Given the description of an element on the screen output the (x, y) to click on. 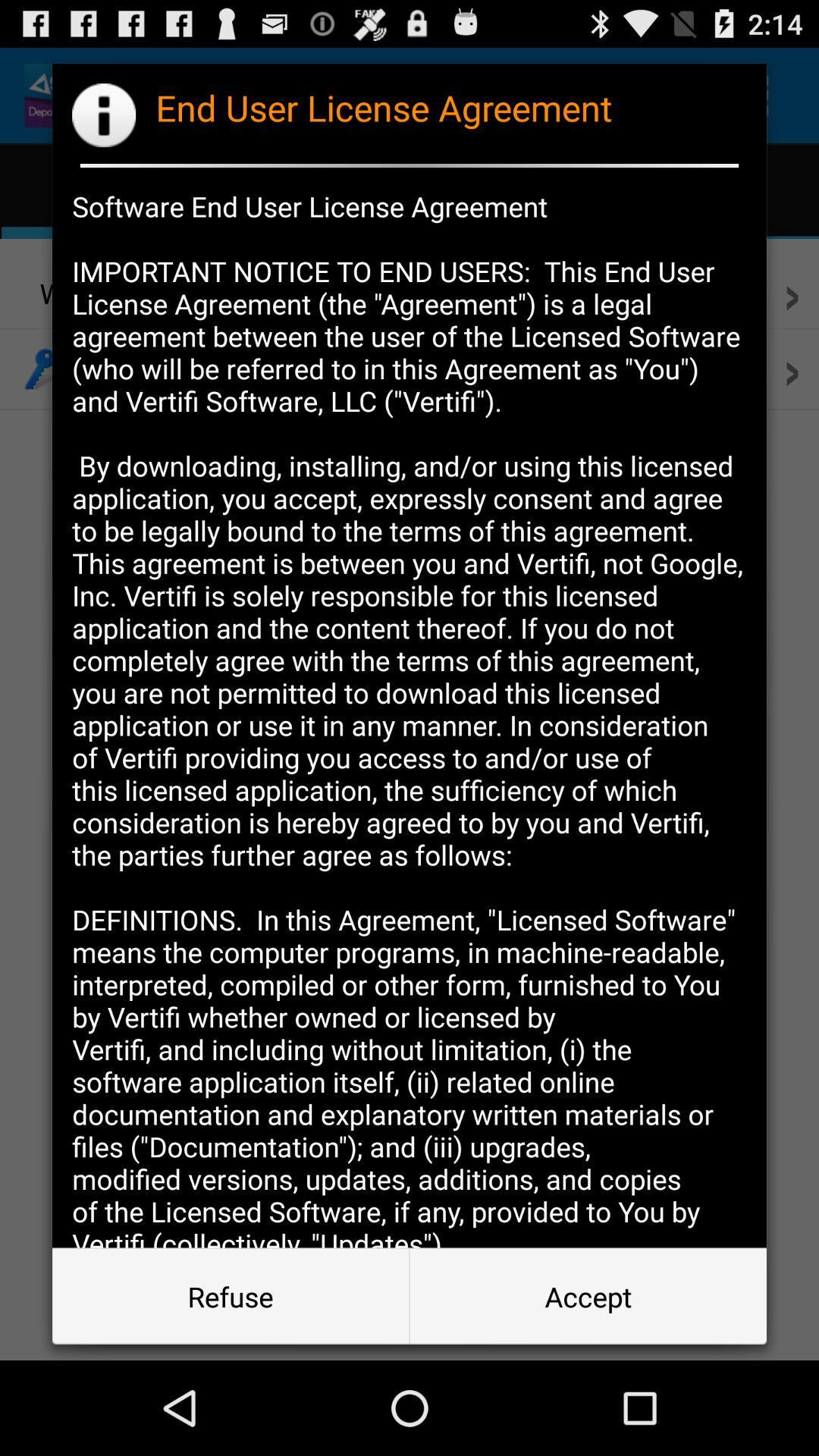
choose the item next to the accept icon (230, 1296)
